Given the description of an element on the screen output the (x, y) to click on. 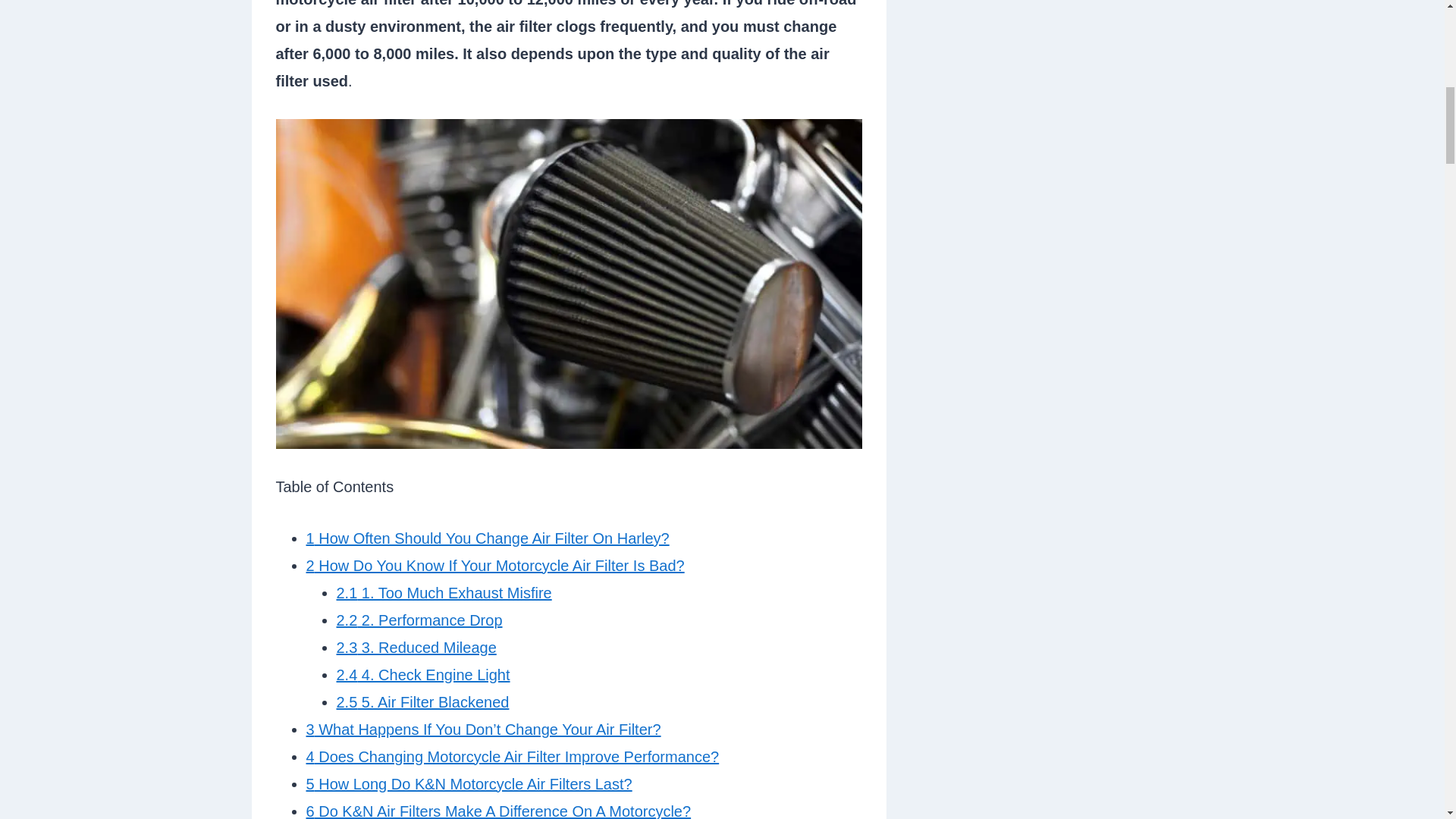
2.4 4. Check Engine Light (423, 674)
2 How Do You Know If Your Motorcycle Air Filter Is Bad? (494, 565)
2.5 5. Air Filter Blackened (422, 701)
2.2 2. Performance Drop (419, 619)
2.3 3. Reduced Mileage (416, 647)
2.1 1. Too Much Exhaust Misfire (443, 592)
1 How Often Should You Change Air Filter On Harley? (487, 538)
4 Does Changing Motorcycle Air Filter Improve Performance? (512, 756)
